Given the description of an element on the screen output the (x, y) to click on. 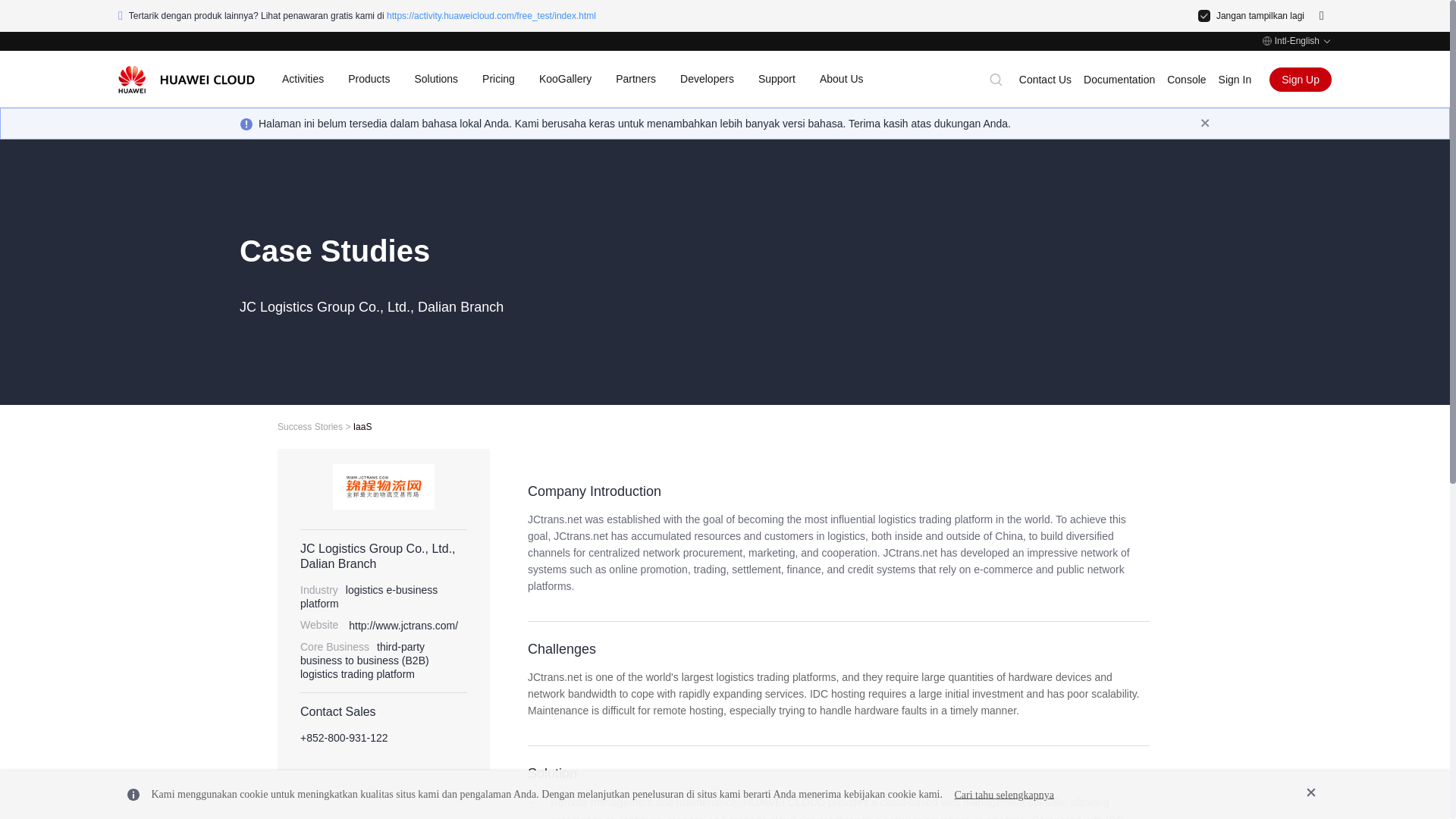
Console (1186, 79)
Contact Us (1045, 79)
Documentation (1118, 79)
KooGallery (564, 78)
Developers (706, 78)
Huawei Cloud (185, 78)
